Given the description of an element on the screen output the (x, y) to click on. 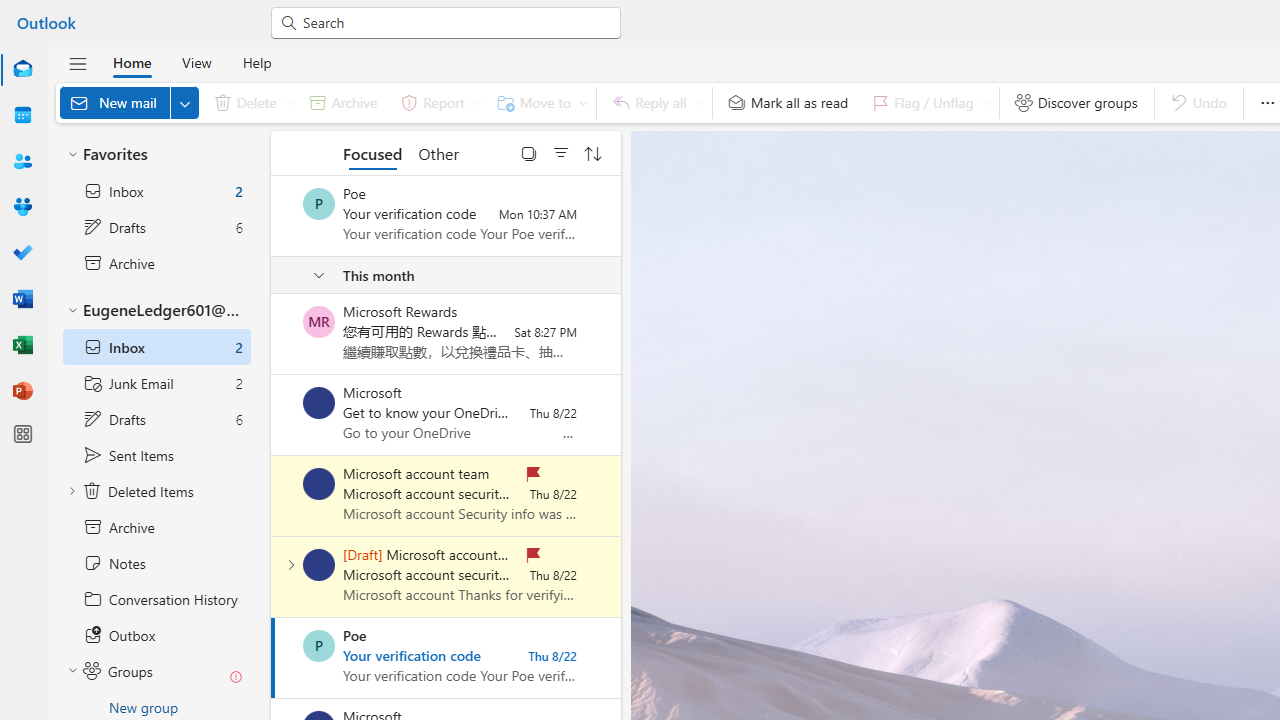
Report (437, 102)
Select (529, 152)
Microsoft account team (319, 564)
Excel (22, 344)
Mark all as read (788, 102)
Mail (22, 69)
Expand to see flag options (985, 102)
View (196, 61)
Excel (22, 345)
Delete (250, 102)
Mail (22, 69)
PowerPoint (22, 391)
Undo (1198, 102)
